Given the description of an element on the screen output the (x, y) to click on. 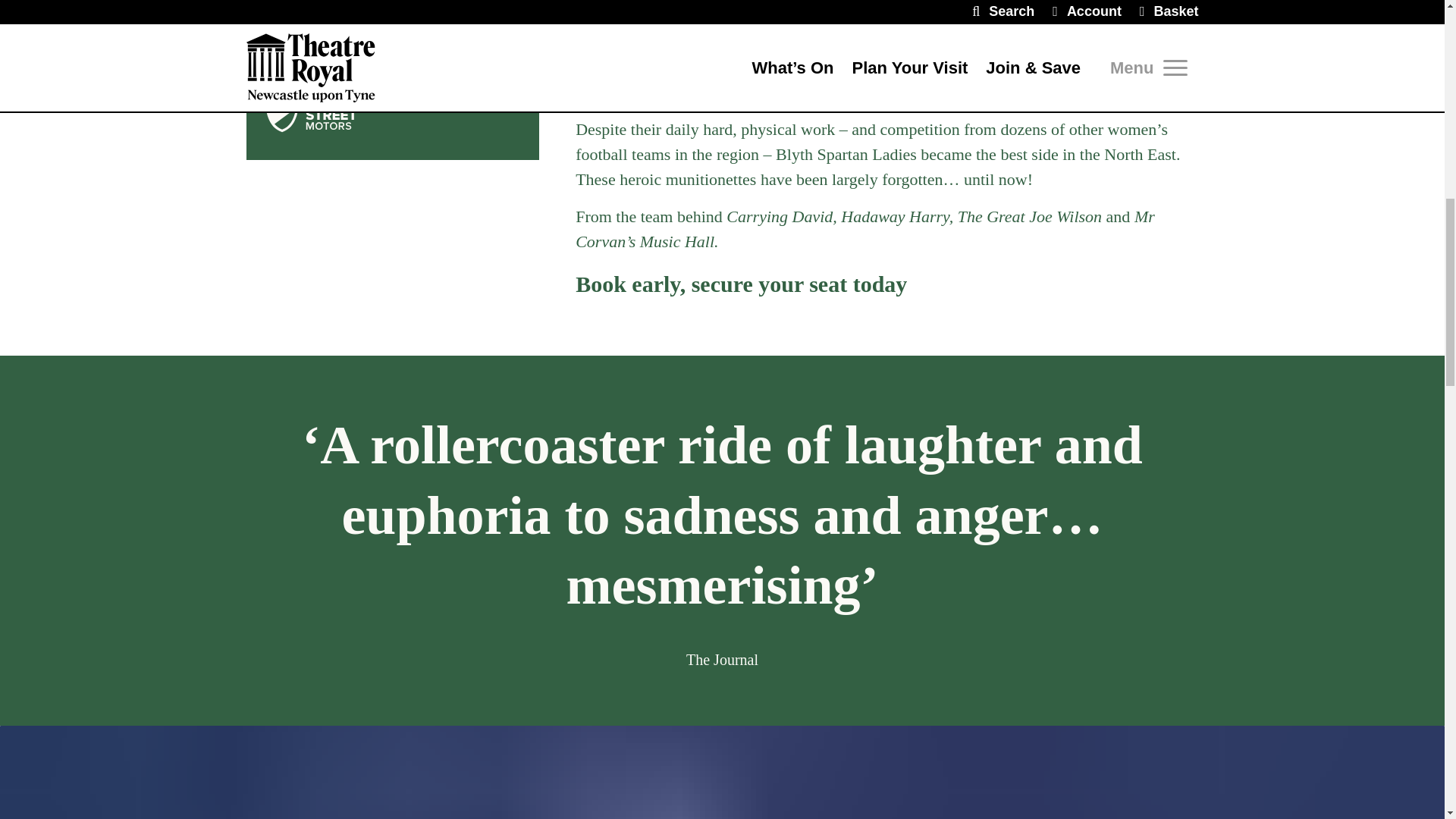
Bristol Street Motors (392, 102)
